Given the description of an element on the screen output the (x, y) to click on. 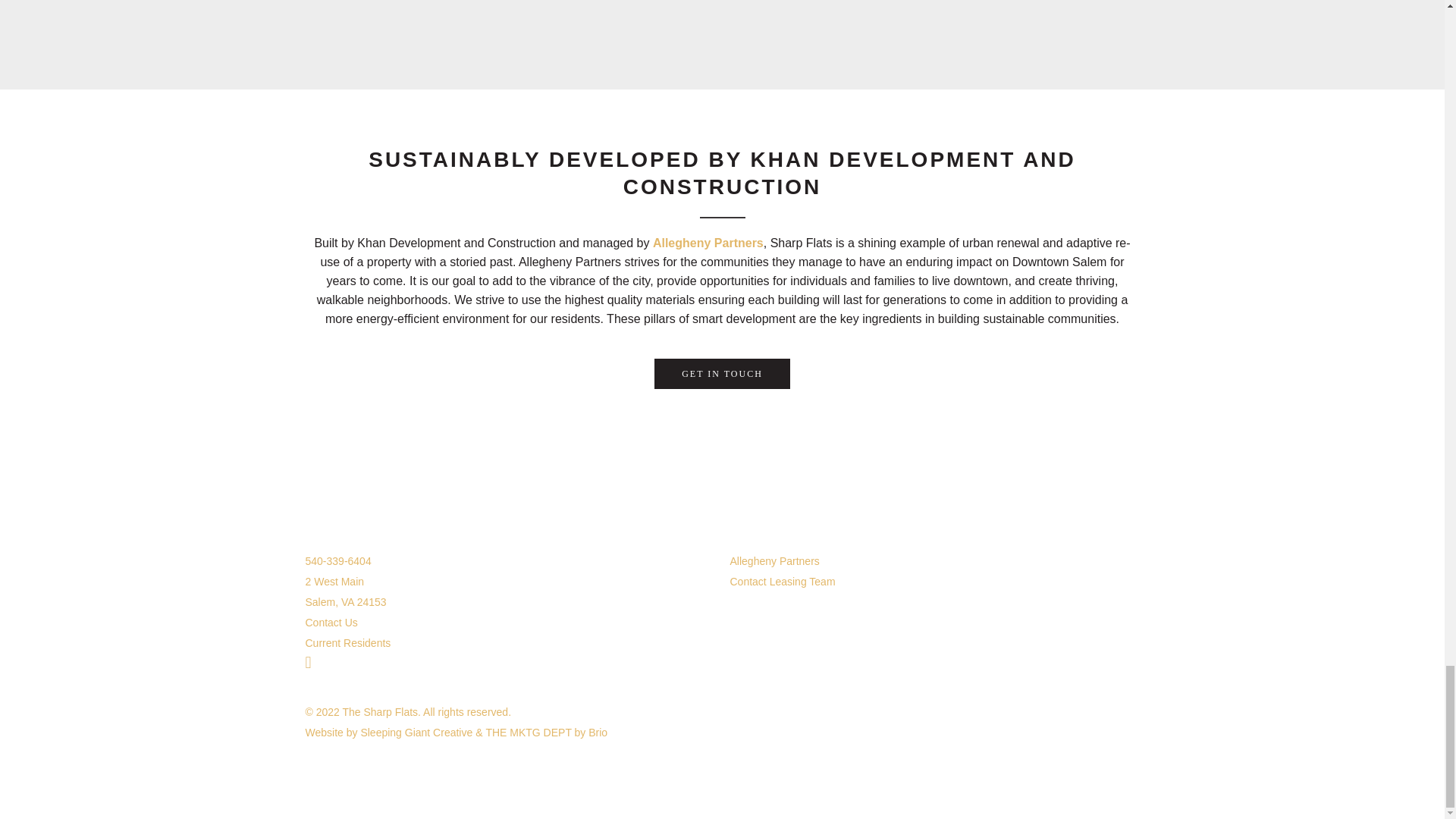
Current Residents (347, 643)
Sleeping Giant Creative (415, 732)
Allegheny Partners (707, 242)
Contact Leasing Team (781, 581)
540-339-6404 (337, 561)
THE MKTG DEPT by Brio (545, 732)
GET IN TOUCH (721, 373)
Contact Us (330, 622)
Allegheny Partners (773, 561)
